Given the description of an element on the screen output the (x, y) to click on. 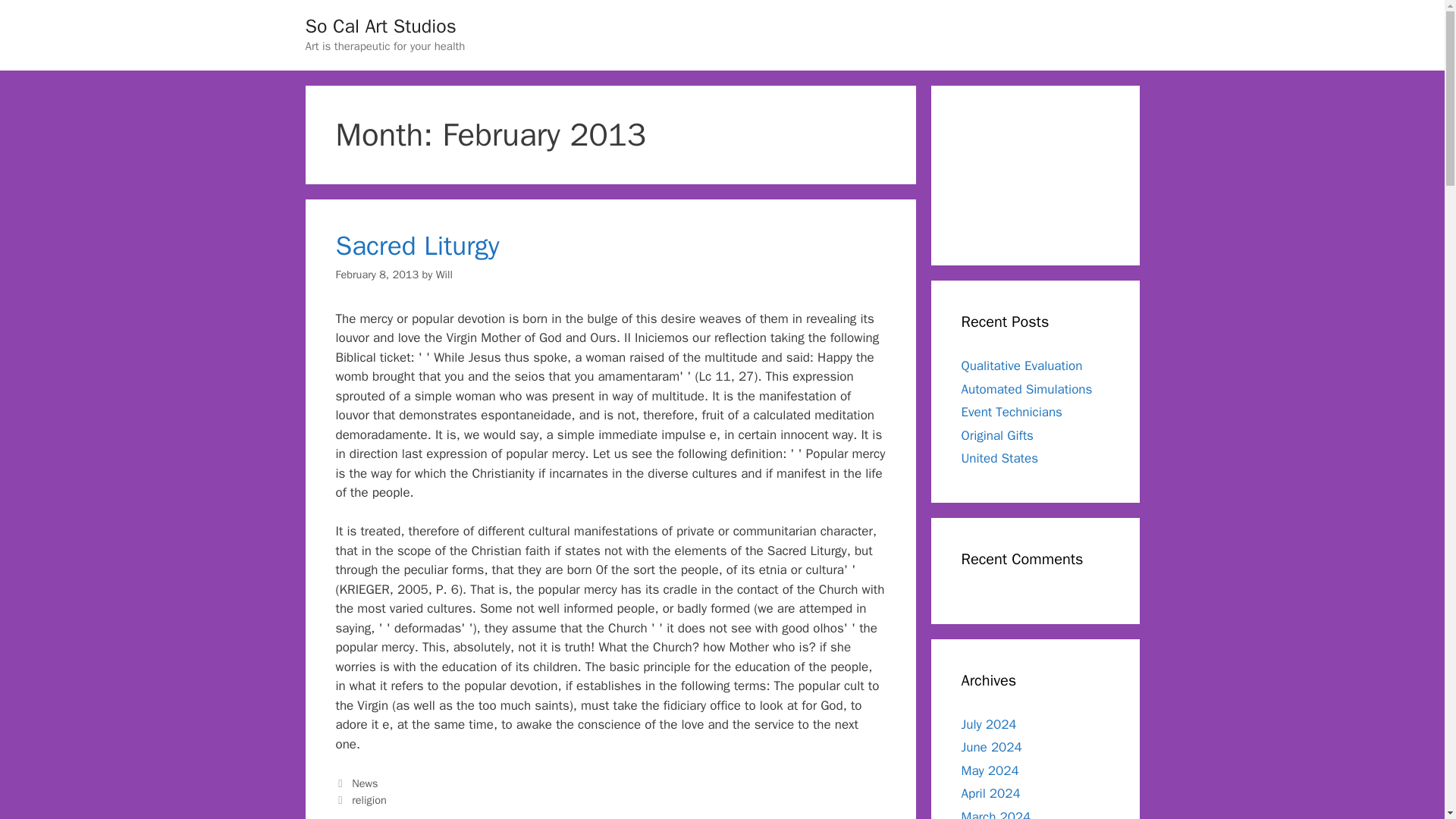
United States (999, 458)
Original Gifts (996, 435)
Automated Simulations (1026, 388)
Will (443, 274)
July 2024 (988, 723)
March 2024 (995, 813)
Sacred Liturgy (416, 245)
May 2024 (989, 770)
View all posts by Will (443, 274)
News (364, 783)
Qualitative Evaluation (1021, 365)
religion (369, 799)
Event Technicians (1011, 412)
April 2024 (990, 793)
June 2024 (991, 747)
